Given the description of an element on the screen output the (x, y) to click on. 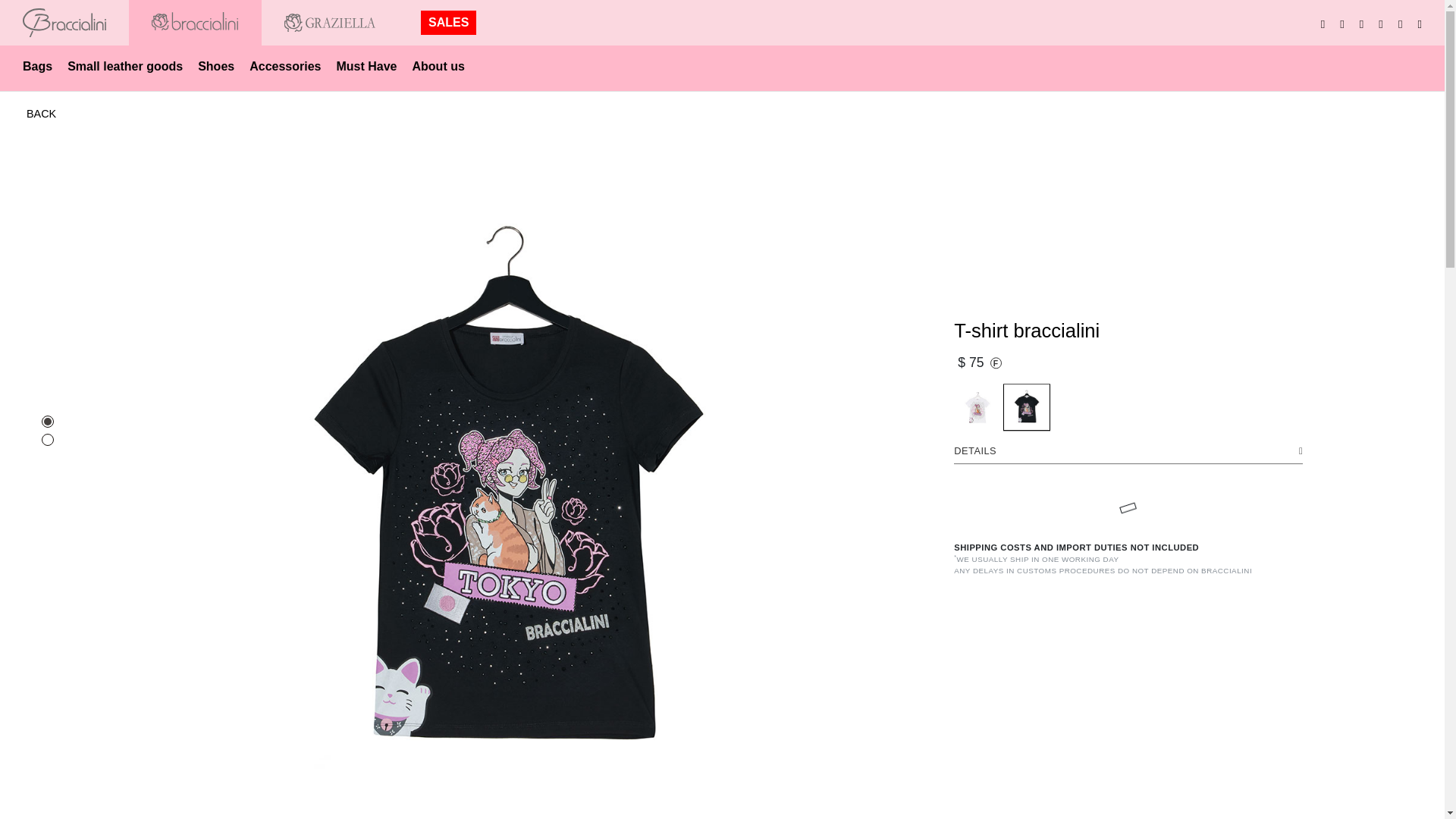
SALES (448, 22)
Must Have (366, 65)
Search (1419, 22)
Accessories (285, 65)
Store Locator (1400, 22)
Small leather goods (124, 65)
Add to wishlist (1299, 334)
About us (437, 65)
BACK (41, 114)
Shoes (215, 65)
Bags (36, 65)
Wishlist (1361, 22)
